Given the description of an element on the screen output the (x, y) to click on. 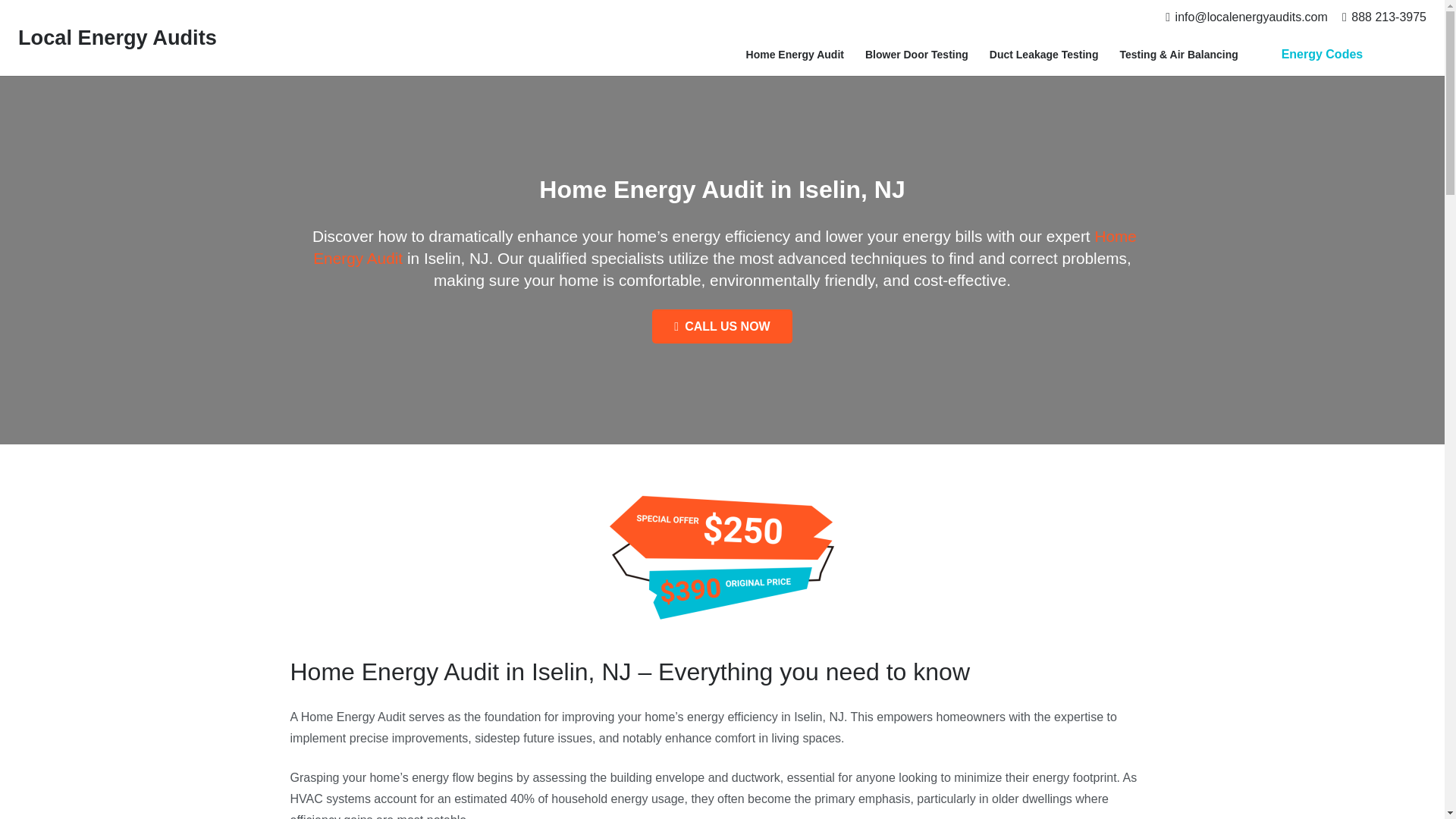
Duct Leakage Testing (1043, 54)
Blower Door Testing (916, 54)
Home Energy Audit (794, 54)
Energy Codes (1321, 54)
CALL US NOW (722, 326)
888 213-3975 (1384, 16)
Home Energy Audit (725, 246)
Local Energy Audits (116, 37)
